Given the description of an element on the screen output the (x, y) to click on. 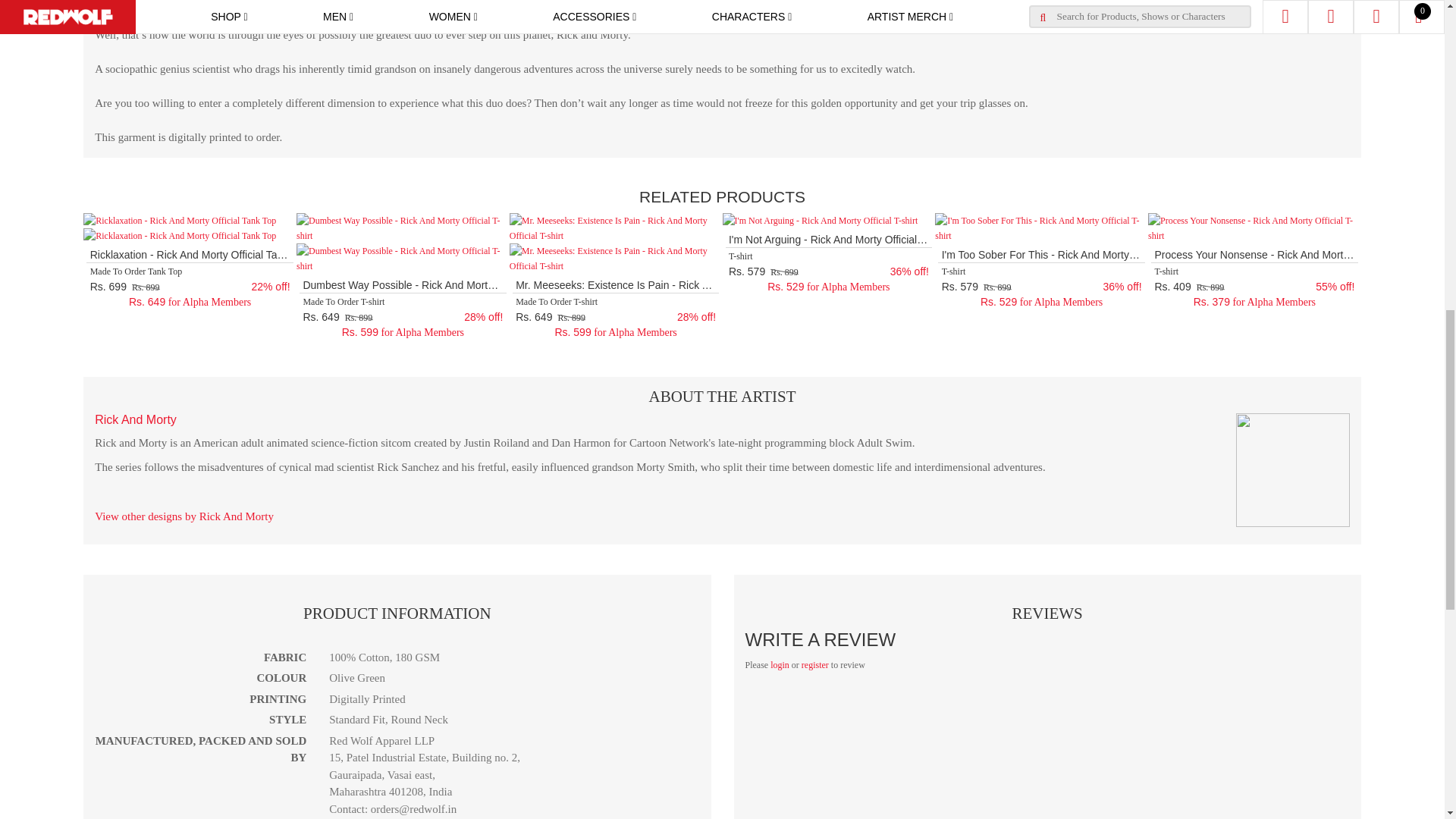
Process Your Nonsense - Rick And Morty Official T-shirt (1254, 227)
I'm Too Sober For This - Rick And Morty Official T-shirt (1041, 227)
Dumbest Way Possible - Rick And Morty Official T-shirt (403, 227)
I'm Not Arguing - Rick And Morty Official T-shirt (819, 220)
Ricklaxation - Rick And Morty Official Tank Top (179, 220)
